Given the description of an element on the screen output the (x, y) to click on. 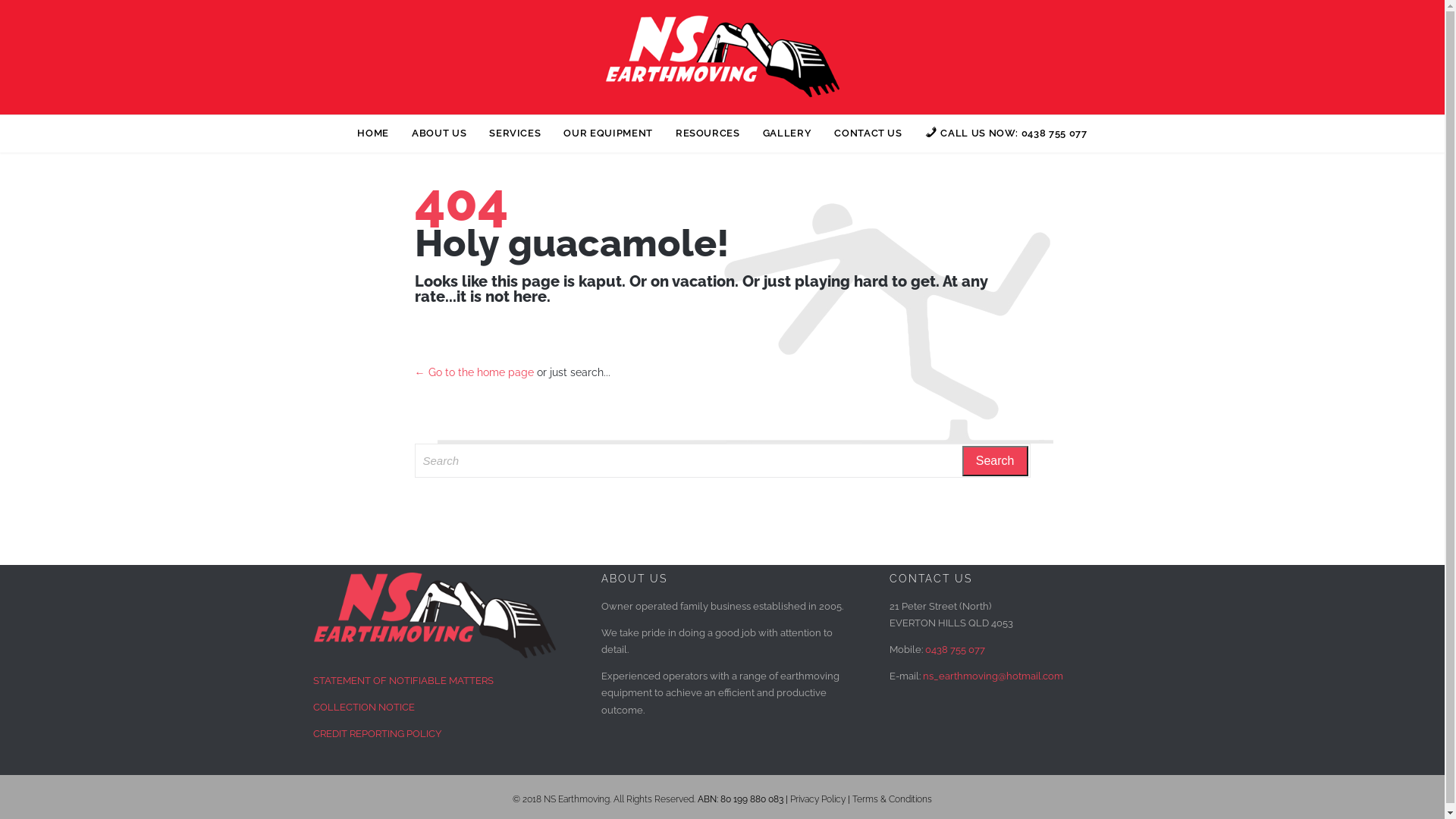
SERVICES Element type: text (514, 134)
Terms & Conditions Element type: text (891, 798)
RESOURCES Element type: text (707, 134)
ABOUT US Element type: text (438, 134)
Search Element type: text (995, 460)
ns_earthmoving@hotmail.com Element type: text (992, 675)
HOME Element type: text (373, 134)
Privacy Policy Element type: text (817, 798)
OUR EQUIPMENT Element type: text (607, 134)
CONTACT US Element type: text (868, 134)
NS Earthmoving Element type: hover (722, 55)
0438 755 077 Element type: text (955, 649)
CREDIT REPORTING POLICY Element type: text (376, 733)
Skip to content Element type: text (721, 114)
CALL US NOW: 0438 755 077 Element type: text (1006, 134)
STATEMENT OF NOTIFIABLE MATTERS Element type: text (402, 680)
GALLERY Element type: text (787, 134)
COLLECTION NOTICE Element type: text (363, 706)
